Given the description of an element on the screen output the (x, y) to click on. 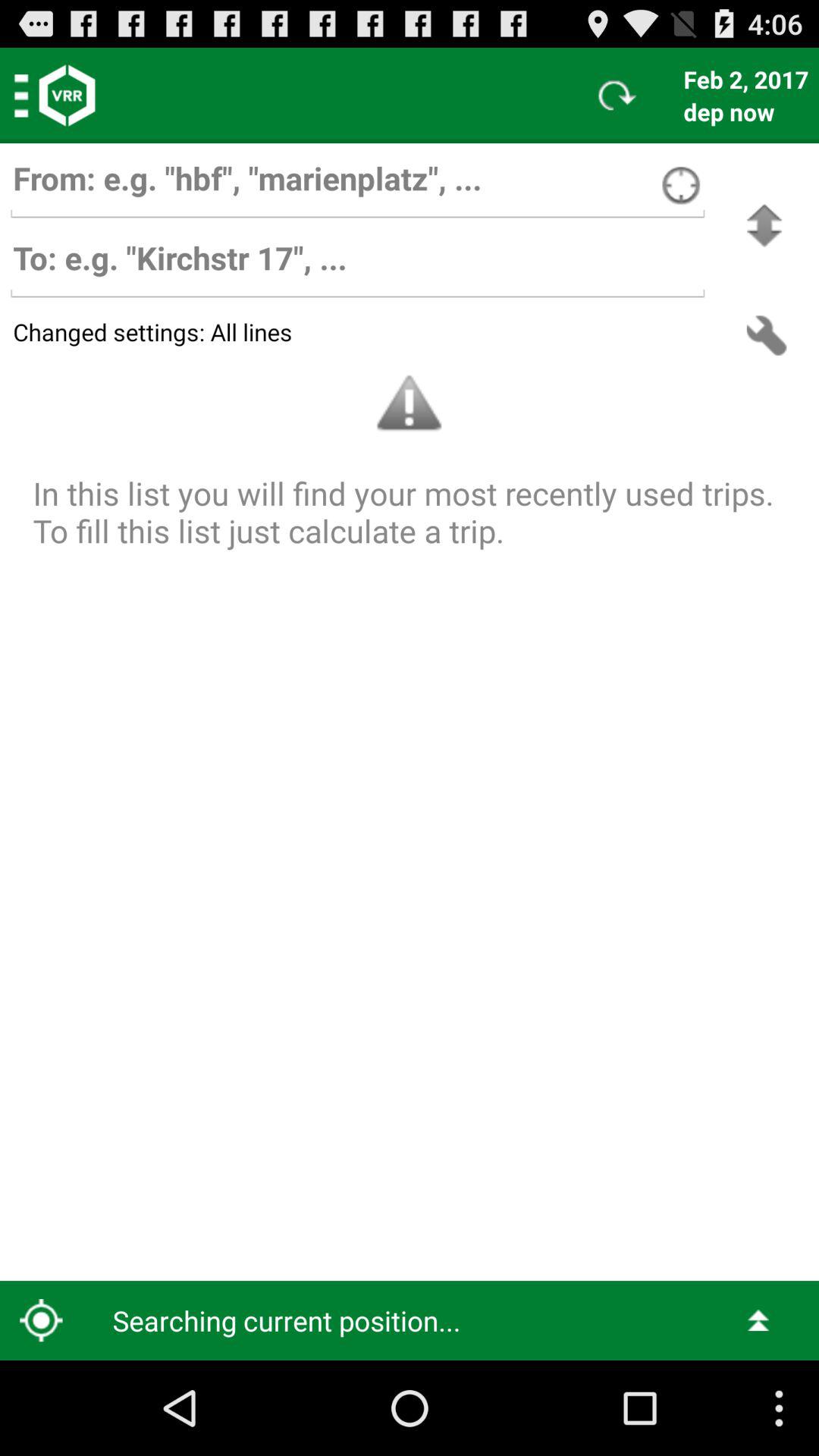
edit to text (357, 265)
